Given the description of an element on the screen output the (x, y) to click on. 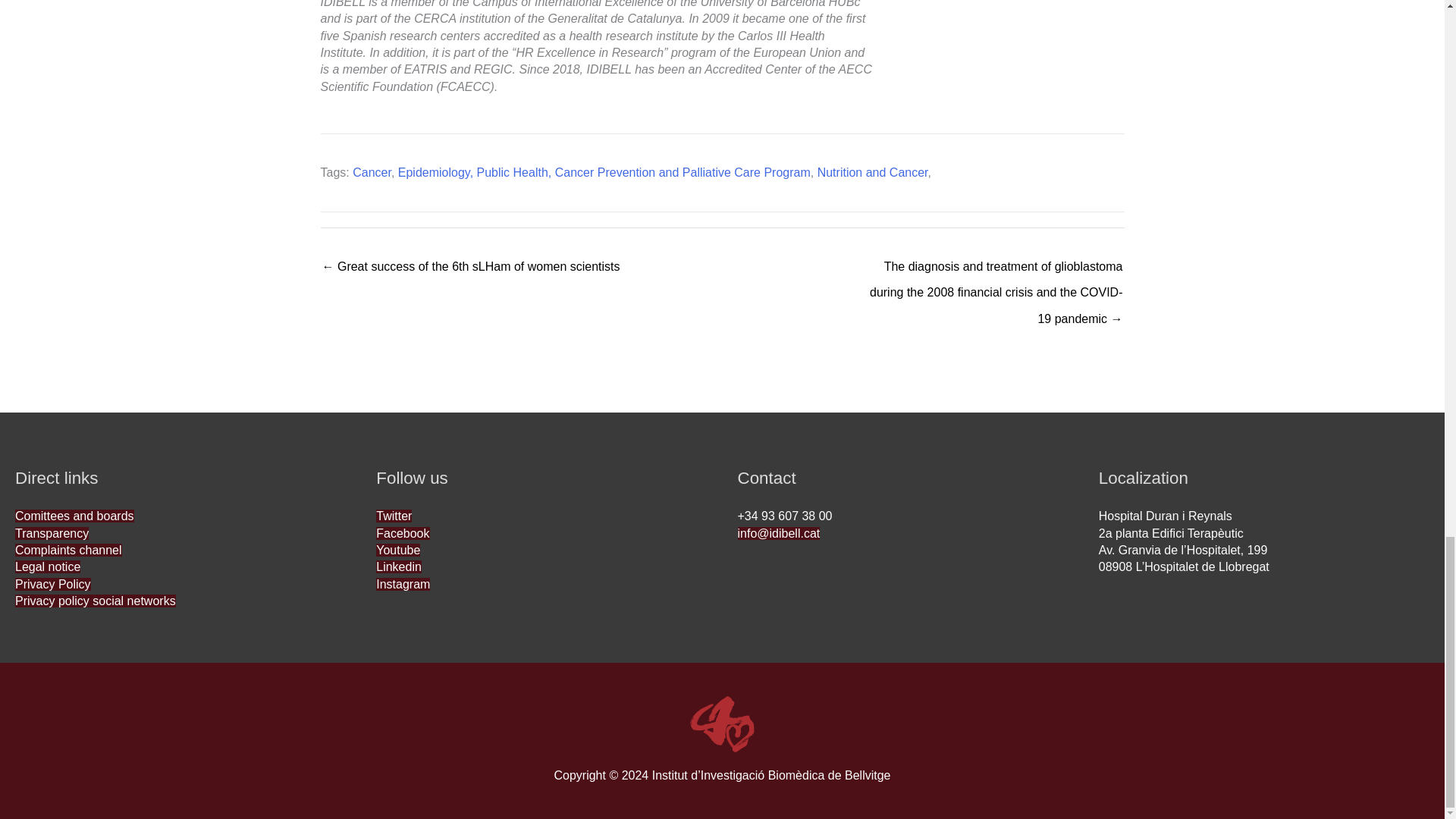
Complaints channel (68, 549)
Nutrition and Cancer (872, 172)
Privacy Policy (52, 584)
Comittees and boards (73, 515)
Legal notice (47, 566)
Cancer (371, 172)
Privacy policy social networks (95, 600)
Transparency (51, 533)
